Given the description of an element on the screen output the (x, y) to click on. 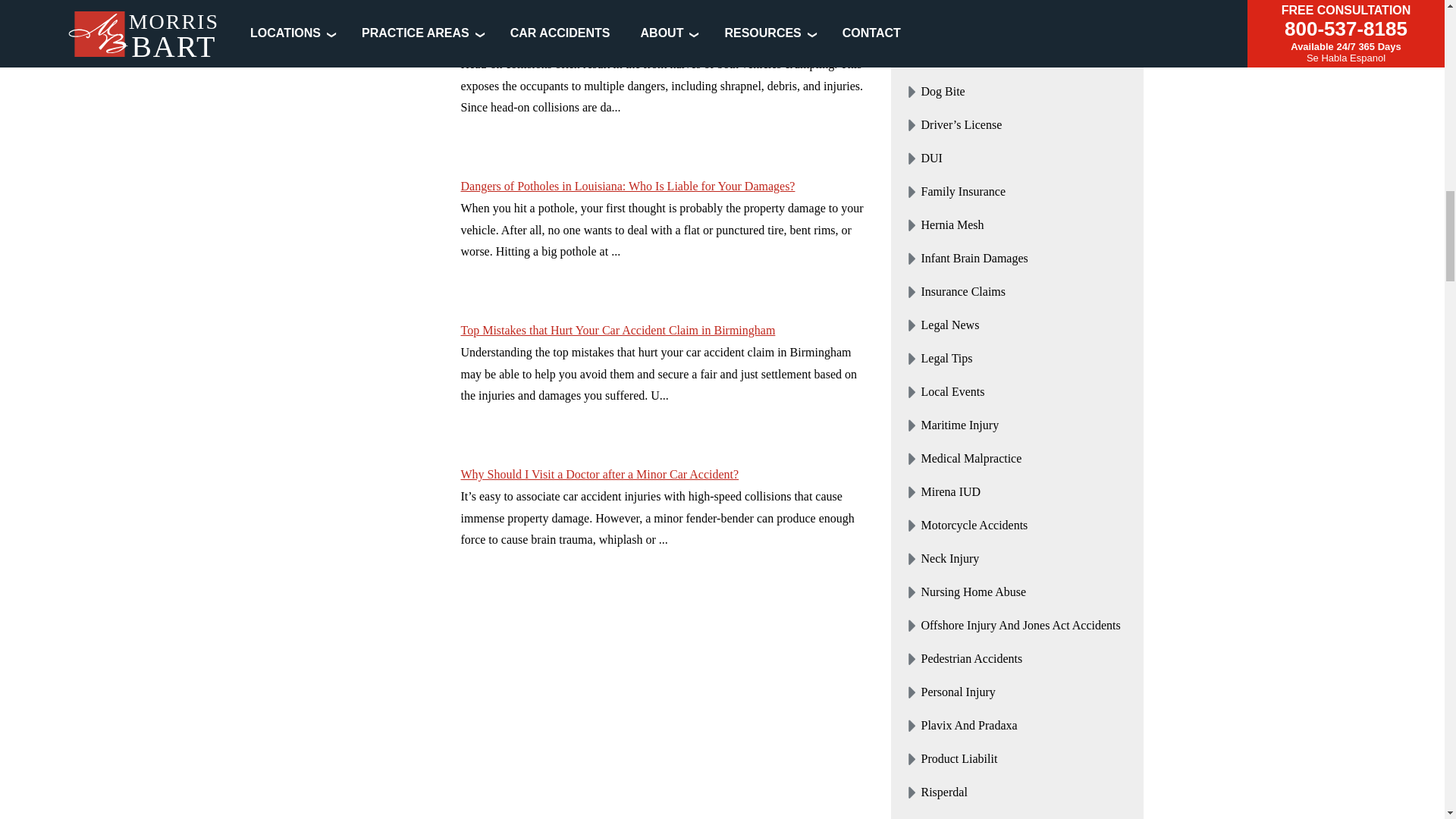
Why Should I Visit a Doctor after a Minor Car Accident? (373, 521)
Who Is at Fault in a Head-On Collision in Alabama? (373, 88)
Top Mistakes that Hurt Your Car Accident Claim in Birmingham (373, 377)
